Given the description of an element on the screen output the (x, y) to click on. 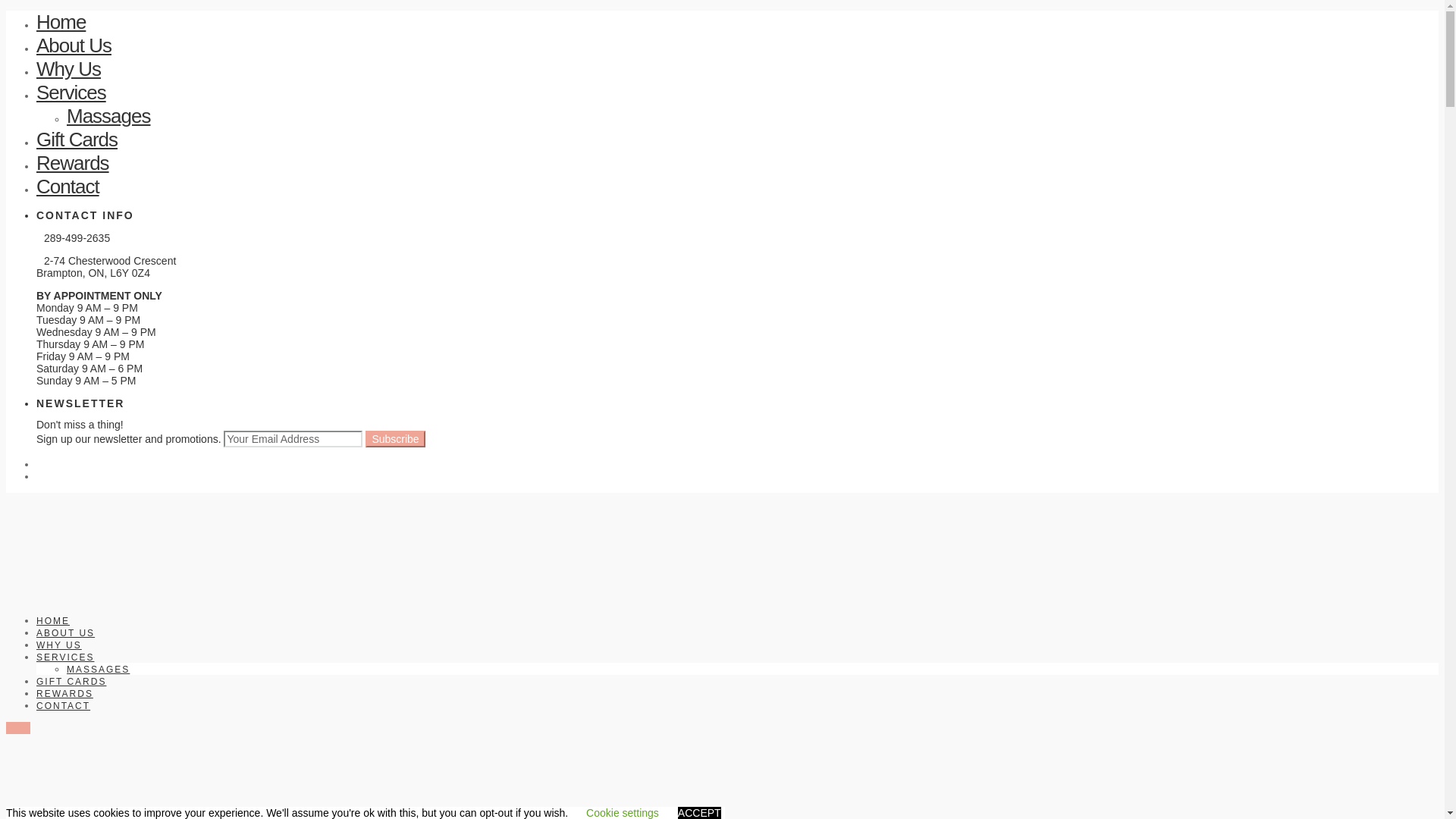
About Us Element type: text (73, 45)
SERVICES Element type: text (65, 657)
Contact Element type: text (67, 186)
Gift Cards Element type: text (76, 139)
Why Us Element type: text (68, 68)
Massages Element type: text (108, 115)
Book Element type: text (18, 727)
WHY US Element type: text (58, 645)
Home Element type: text (60, 21)
Rewards Element type: text (72, 162)
Services Element type: text (71, 92)
ABOUT US Element type: text (65, 633)
GIFT CARDS Element type: text (71, 681)
REWARDS Element type: text (64, 693)
Subscribe Element type: text (394, 438)
CONTACT Element type: text (63, 705)
HOME Element type: text (52, 621)
MASSAGES Element type: text (97, 669)
